Given the description of an element on the screen output the (x, y) to click on. 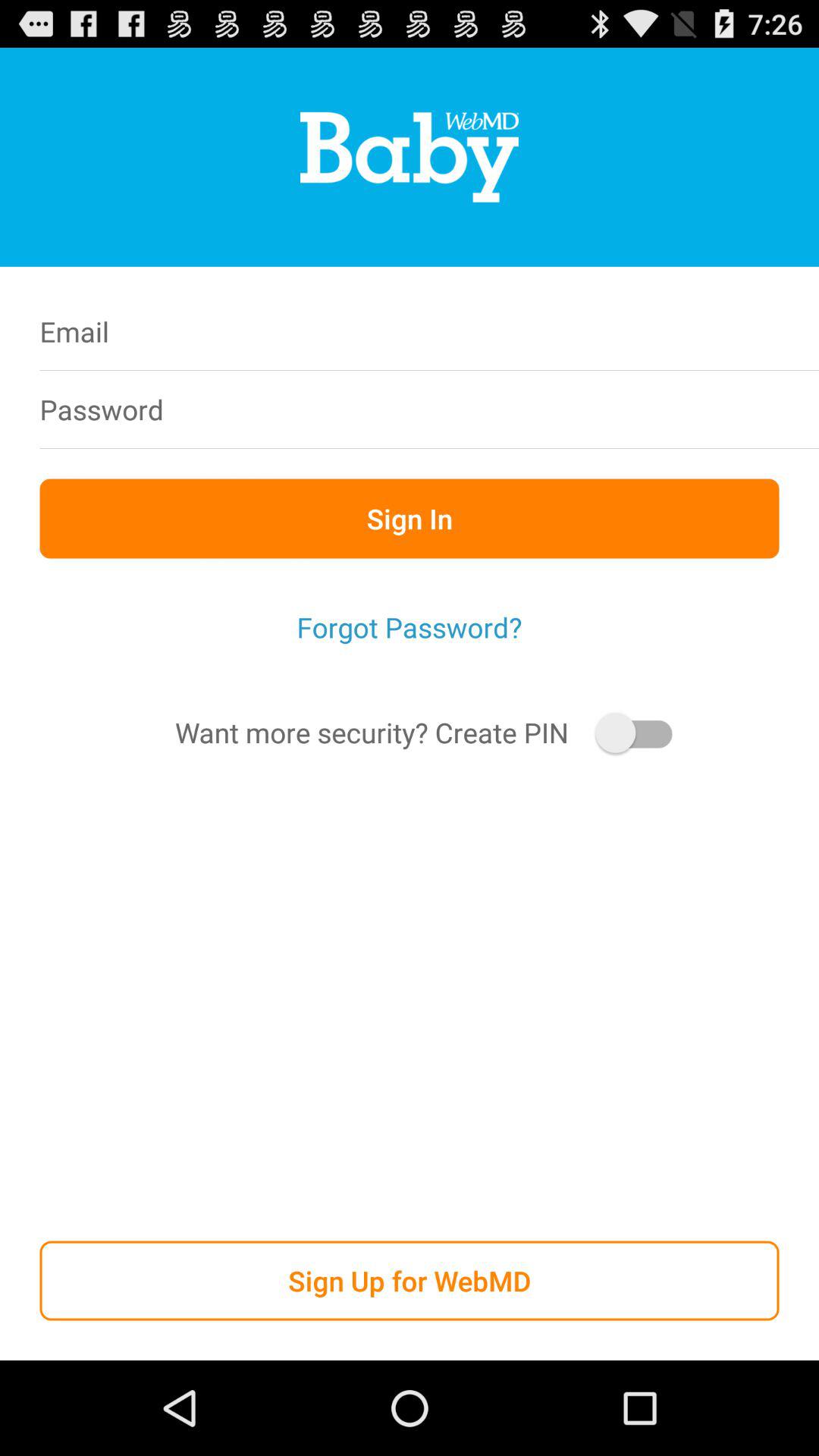
space for email (507, 331)
